Given the description of an element on the screen output the (x, y) to click on. 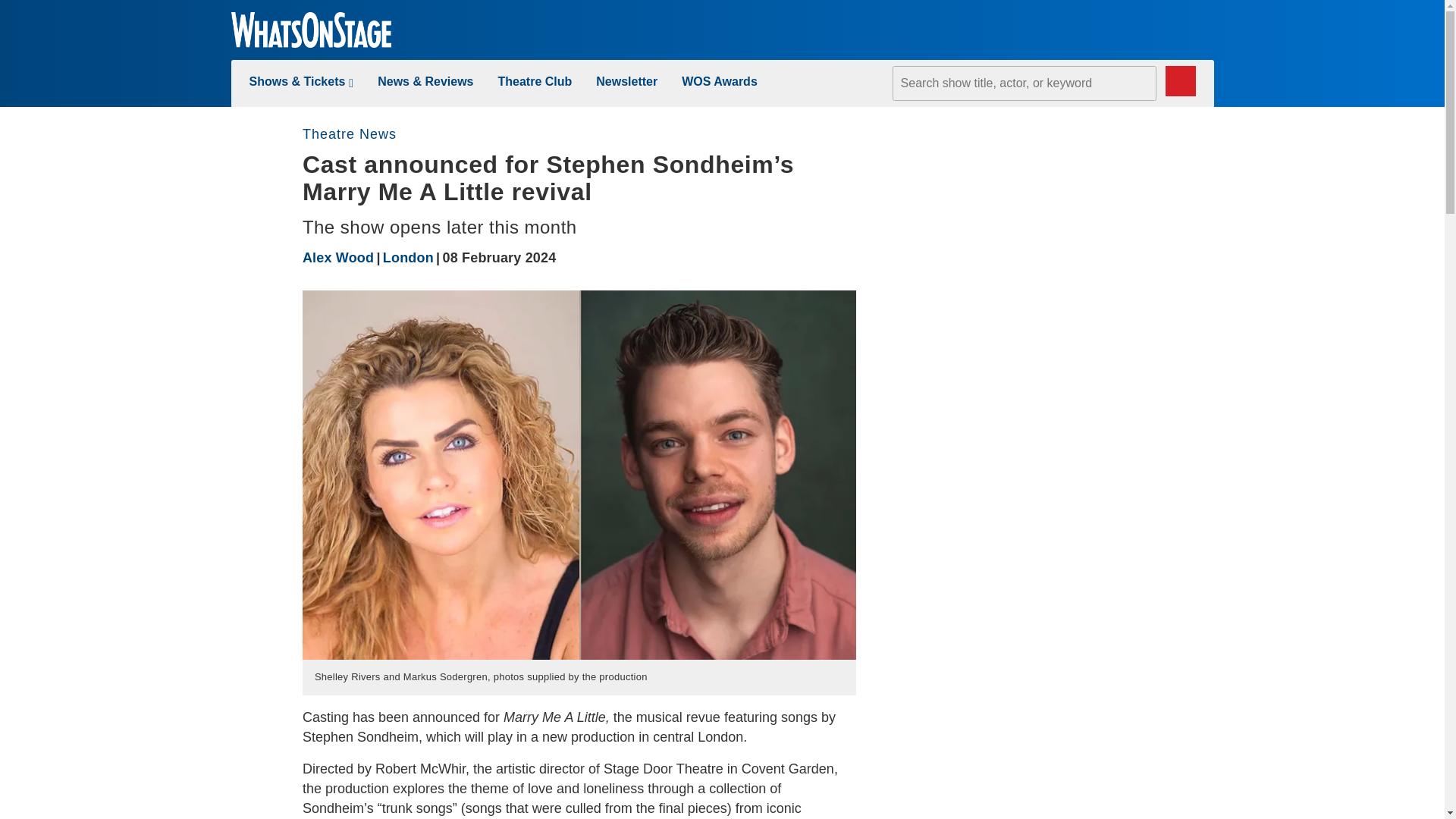
WOS Awards (719, 81)
Newsletter (626, 81)
new-and-reviews-link (425, 81)
Theatre Club (534, 81)
